Given the description of an element on the screen output the (x, y) to click on. 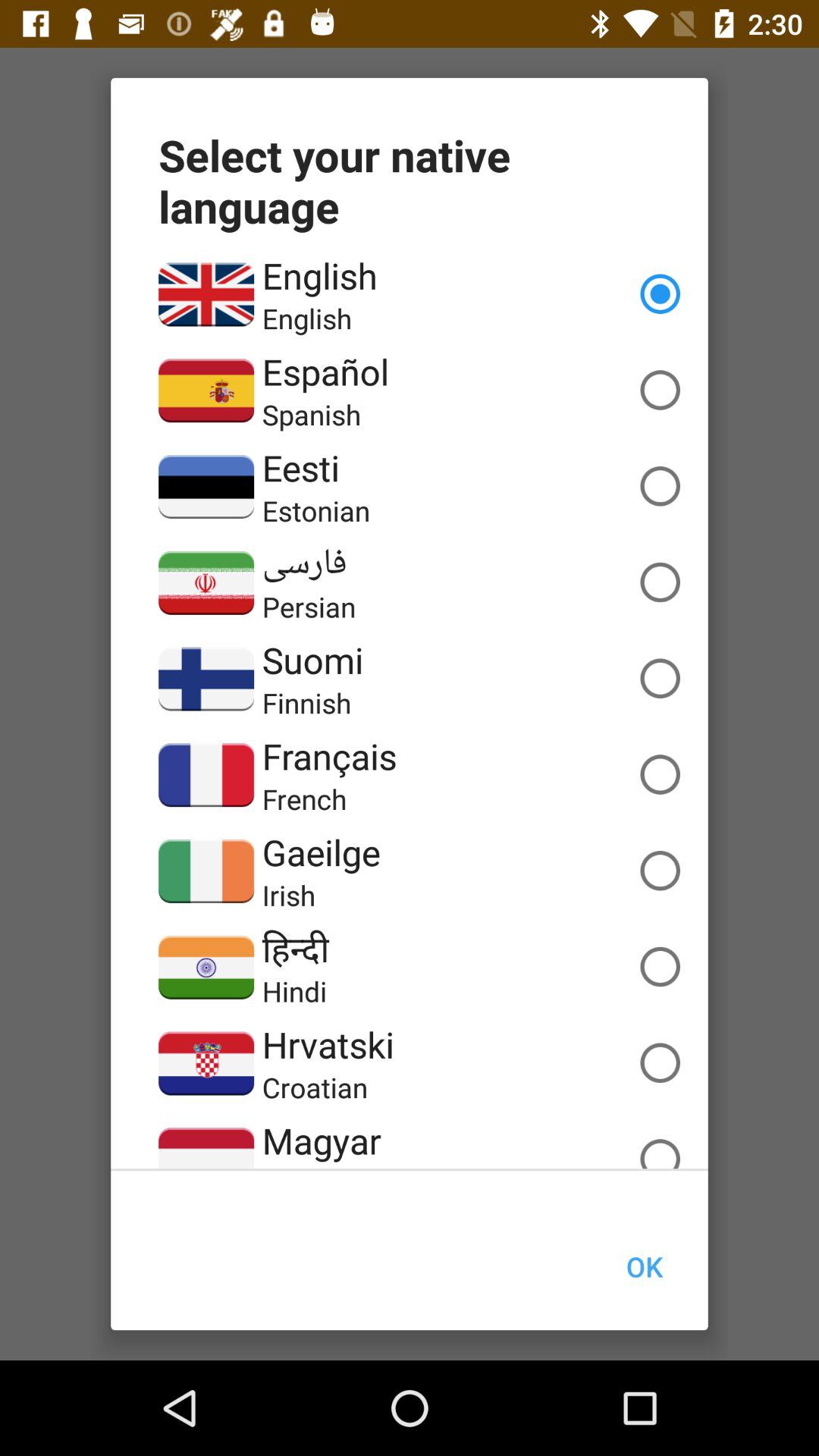
turn on the icon below hrvatski (314, 1087)
